Given the description of an element on the screen output the (x, y) to click on. 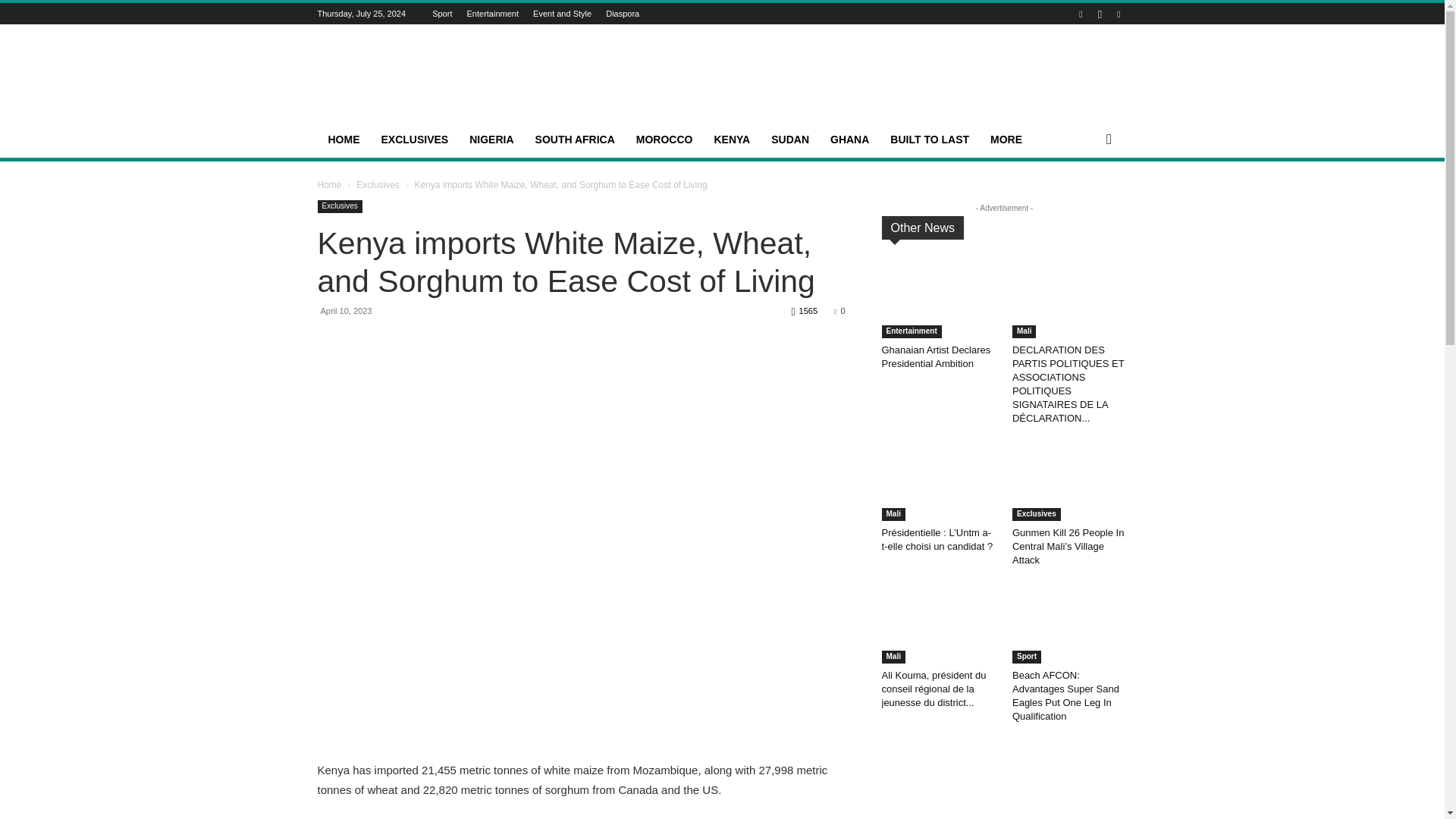
Event and Style (561, 13)
HOME (343, 139)
SOUTH AFRICA (575, 139)
Sport (441, 13)
Diaspora (622, 13)
NIGERIA (491, 139)
EXCLUSIVES (413, 139)
View all posts in Exclusives (377, 184)
MOROCCO (664, 139)
Entertainment (492, 13)
